Given the description of an element on the screen output the (x, y) to click on. 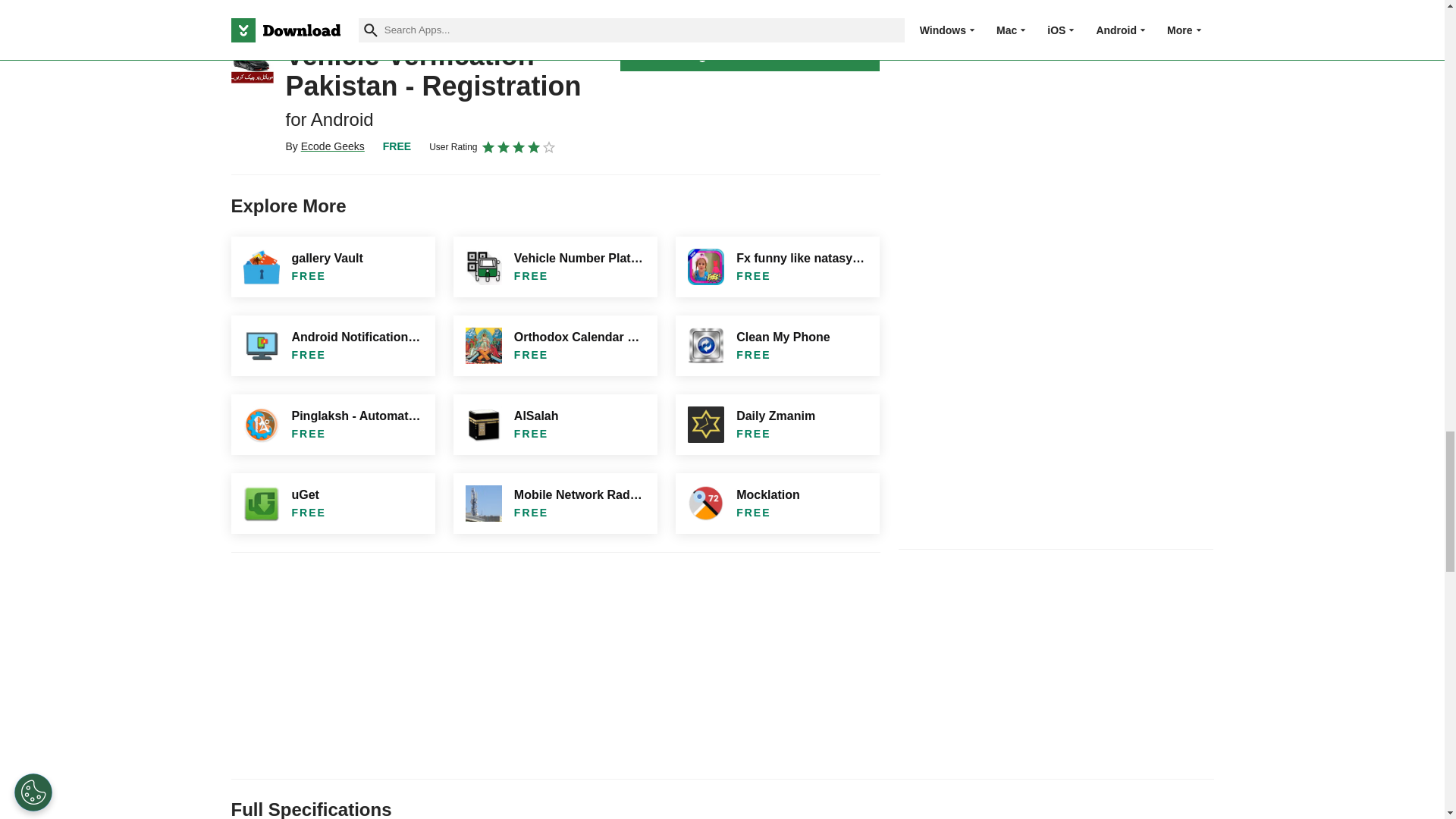
Vehicle Number Plate Validator (555, 266)
Android Notifications on Windows (331, 345)
Daily Zmanim (777, 424)
uGet (331, 503)
AlSalah (555, 424)
gallery Vault (331, 266)
Mobile Network Radiation (555, 503)
Pinglaksh - Automation (331, 424)
Orthodox Calendar of Saints NS (555, 345)
Fx funny like natasya - natasya Vlog (777, 266)
Mocklation (777, 503)
Clean My Phone (777, 345)
Vehicle Verification Pakistan - Registration for Android (251, 61)
